Given the description of an element on the screen output the (x, y) to click on. 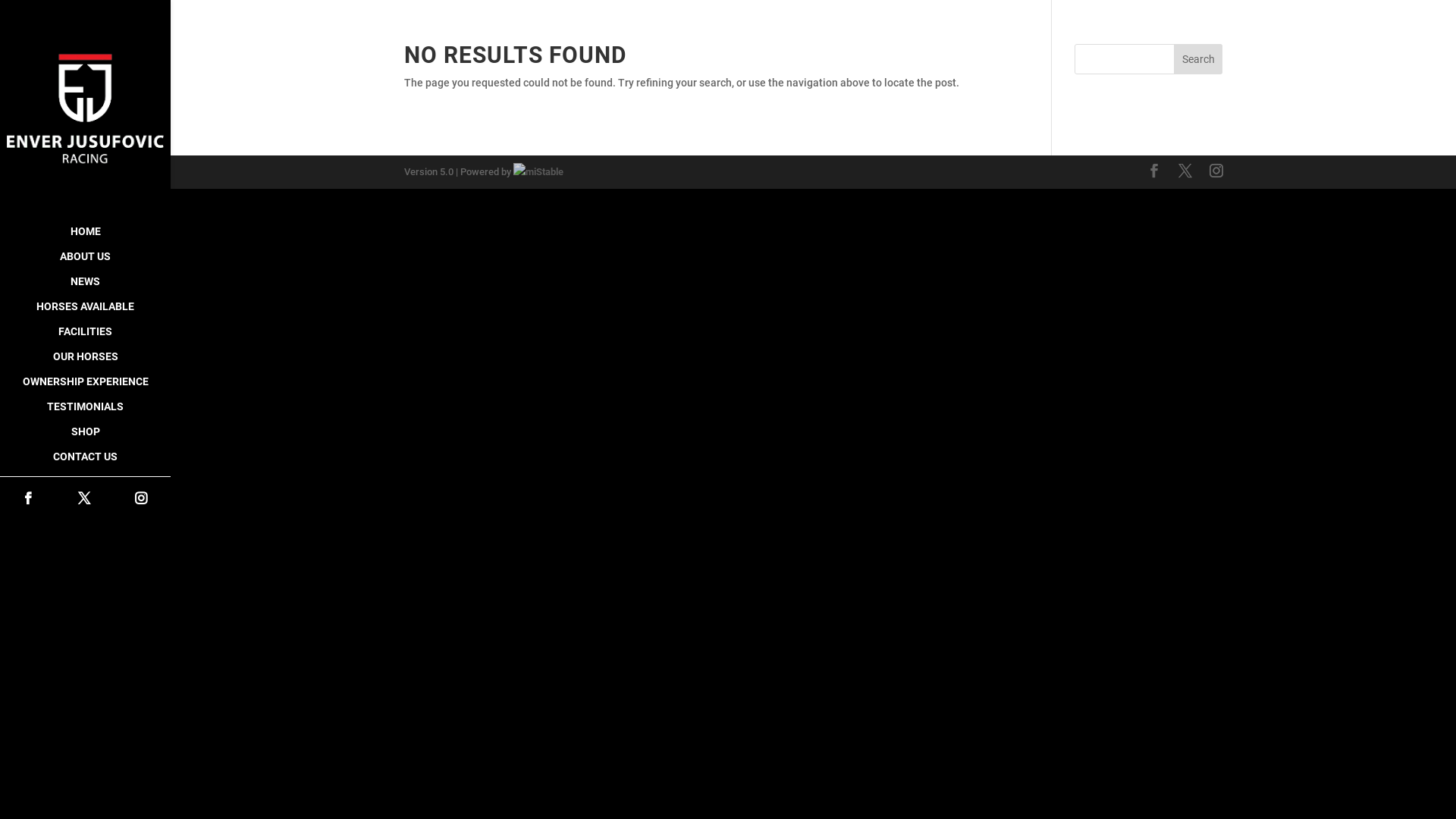
SOCIAL Element type: text (85, 481)
FACEBOOK Element type: text (27, 498)
Search Element type: text (1198, 58)
Horse Management Software Element type: hover (537, 171)
SHOP Element type: text (85, 438)
HOME Element type: text (85, 238)
NEWS Element type: text (85, 288)
TESTIMONIALS Element type: text (85, 413)
CONTACT US Element type: text (85, 463)
FACILITIES Element type: text (85, 338)
OUR HORSES Element type: text (85, 363)
HORSES AVAILABLE Element type: text (85, 313)
OWNERSHIP EXPERIENCE Element type: text (85, 388)
ABOUT US Element type: text (85, 263)
TWITTER Element type: text (83, 498)
INSTAGRAM Element type: text (140, 498)
